Given the description of an element on the screen output the (x, y) to click on. 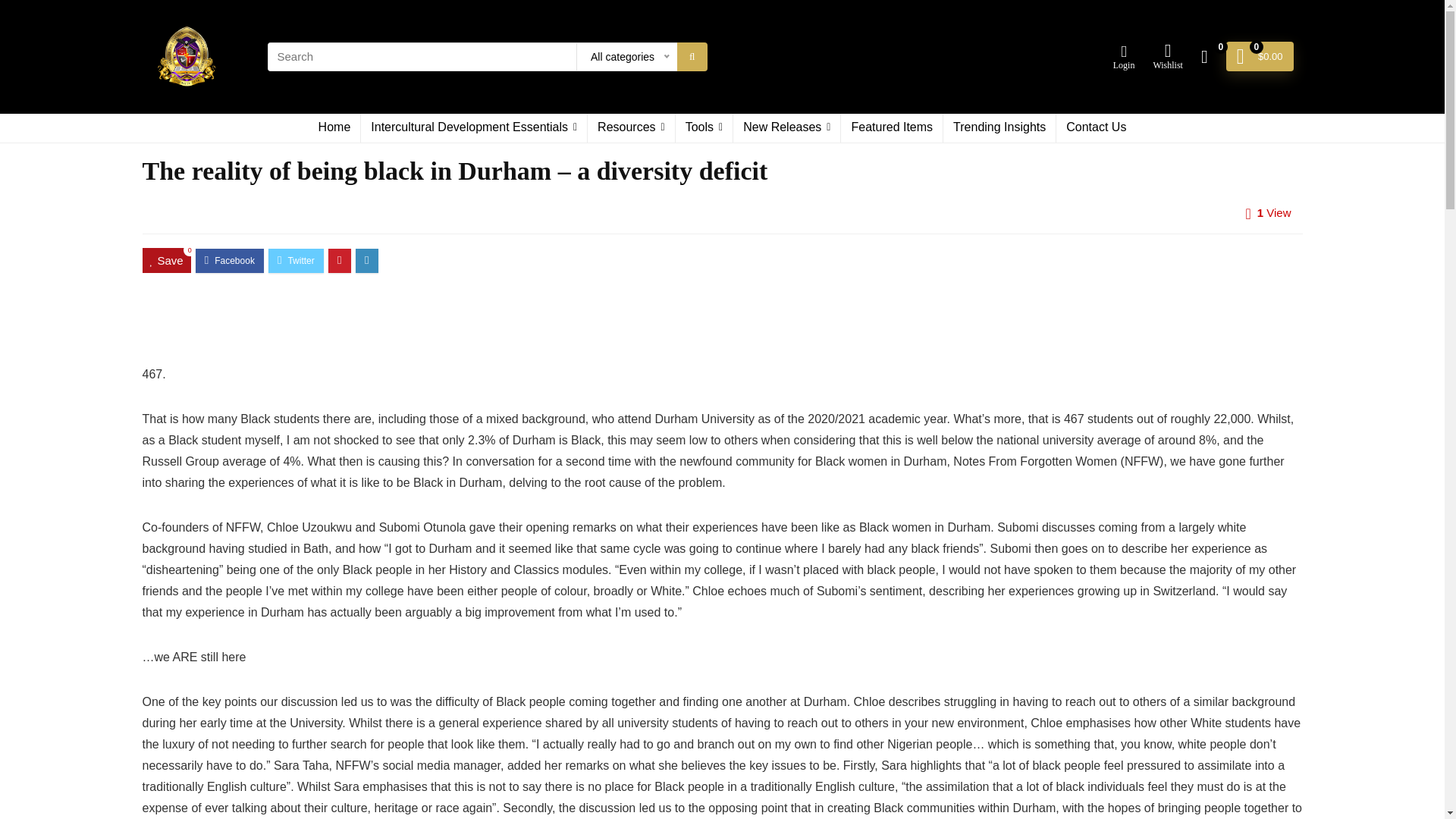
New Releases (786, 127)
Contact Us (1096, 127)
Tools (703, 127)
Resources (631, 127)
Featured Items (891, 127)
Home (334, 127)
Intercultural Development Essentials (473, 127)
Trending Insights (999, 127)
